Given the description of an element on the screen output the (x, y) to click on. 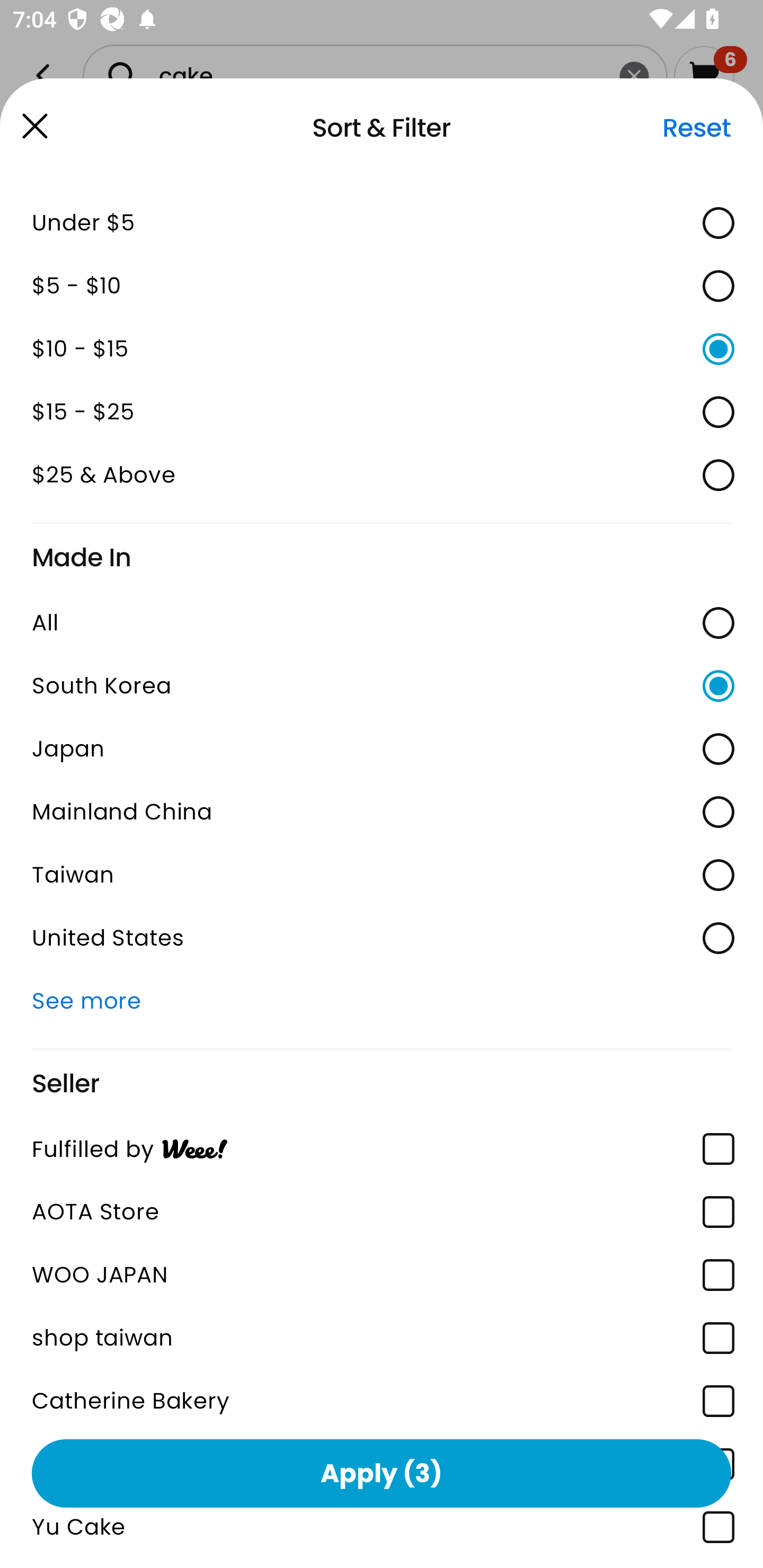
Reset (696, 127)
See more (381, 1000)
Apply (3) (381, 1472)
